Given the description of an element on the screen output the (x, y) to click on. 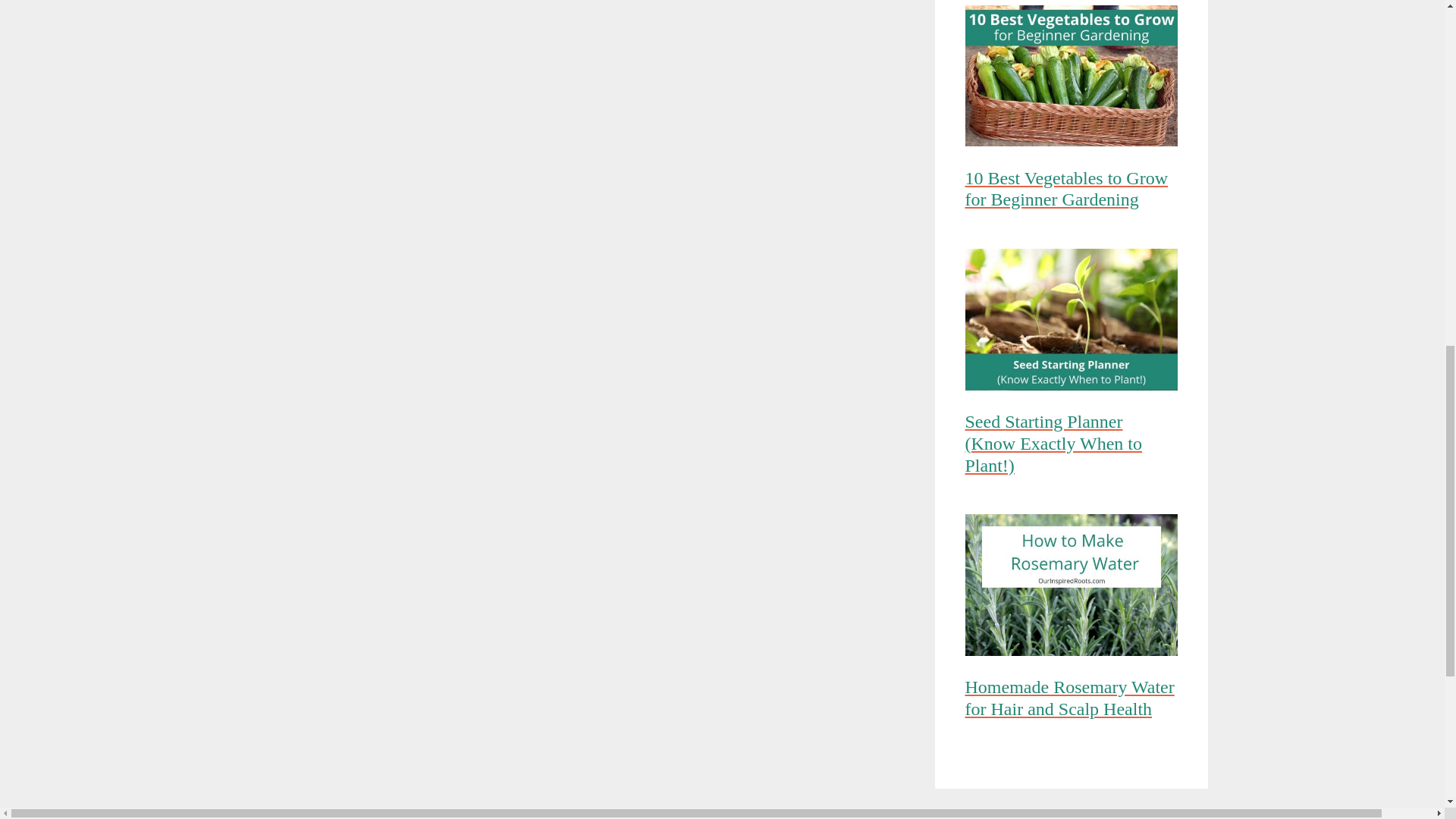
Homemade Rosemary Water for Hair and Scalp Health (1069, 587)
10 Best Vegetables to Grow for Beginner Gardening (1069, 193)
10 Best Vegetables to Grow for Beginner Gardening (1069, 78)
10 Best Vegetables to Grow for Beginner Gardening (1069, 193)
Homemade Rosemary Water for Hair and Scalp Health (1069, 702)
Homemade Rosemary Water for Hair and Scalp Health (1069, 702)
